Given the description of an element on the screen output the (x, y) to click on. 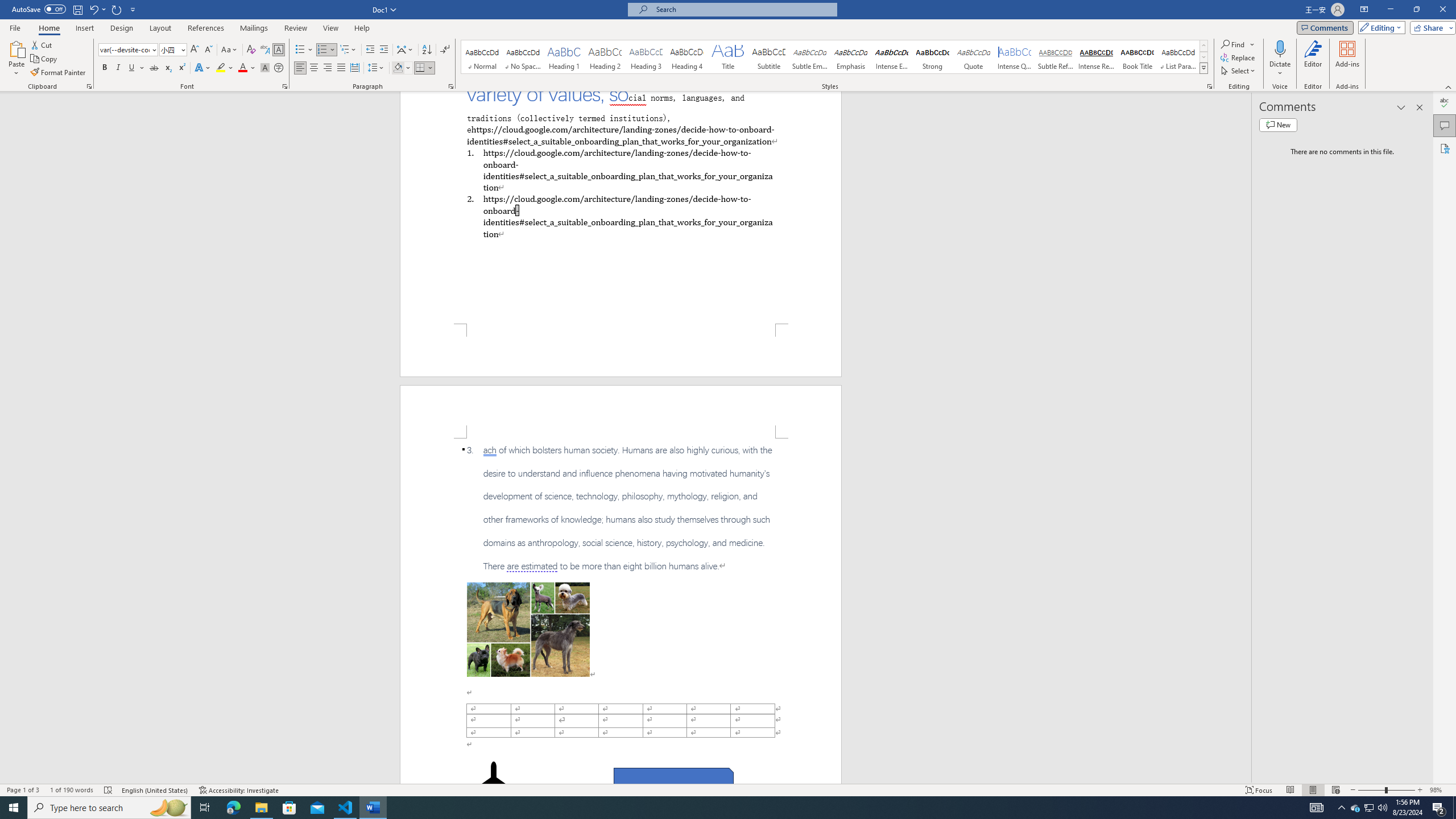
Align Left (300, 67)
Subscript (167, 67)
Enclose Characters... (278, 67)
Text Highlight Color Yellow (220, 67)
Heading 3 (646, 56)
Row Down (1203, 56)
Character Border (278, 49)
Select (1238, 69)
Header -Section 1- (620, 411)
